Given the description of an element on the screen output the (x, y) to click on. 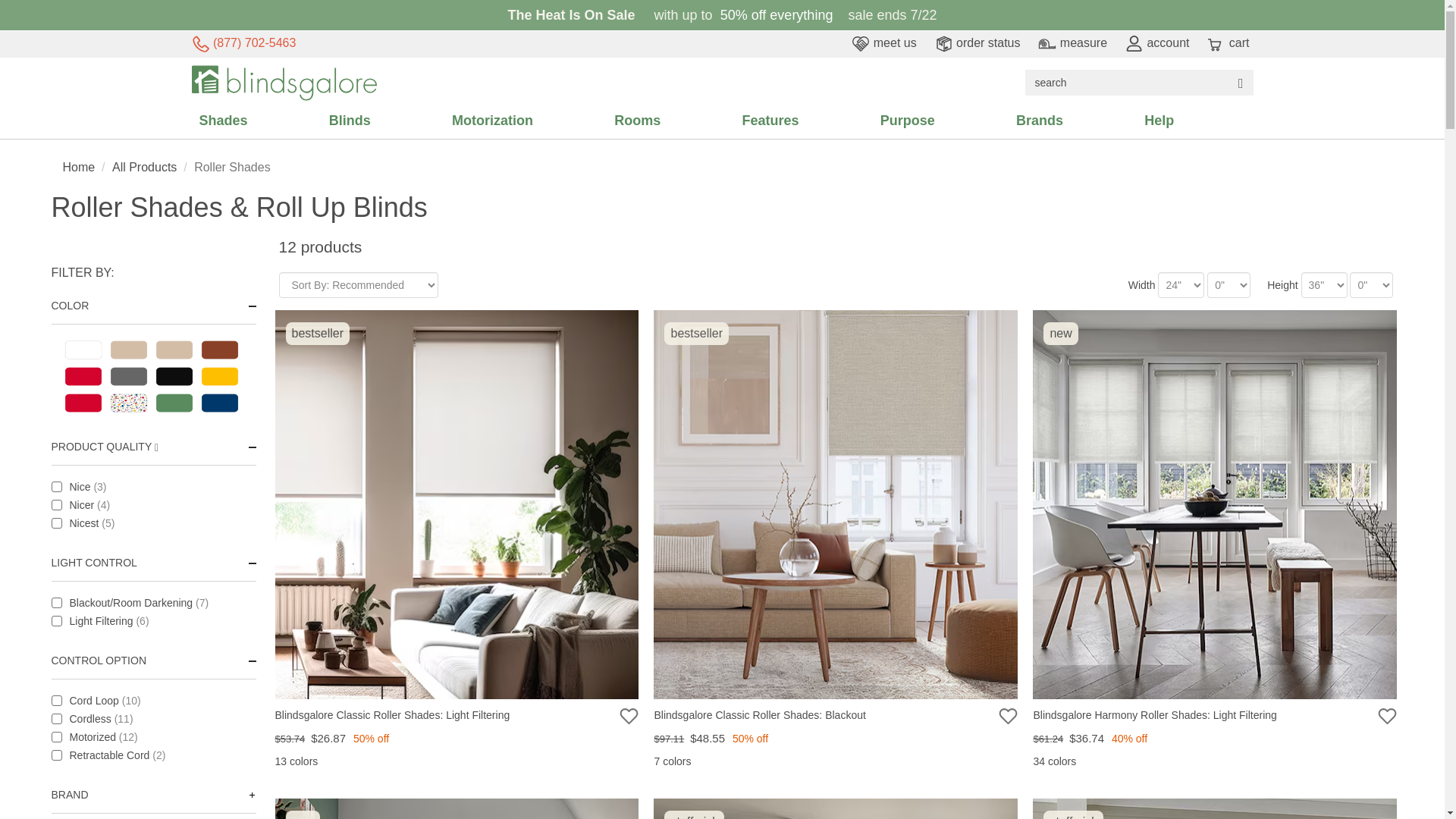
measure (1072, 42)
account (1157, 42)
cart (1228, 42)
Measuring (1072, 42)
Blinds (387, 121)
meet us (883, 42)
order status (977, 42)
Account (1157, 42)
Order Status (977, 42)
Shades (261, 121)
Meet Us (883, 42)
